Given the description of an element on the screen output the (x, y) to click on. 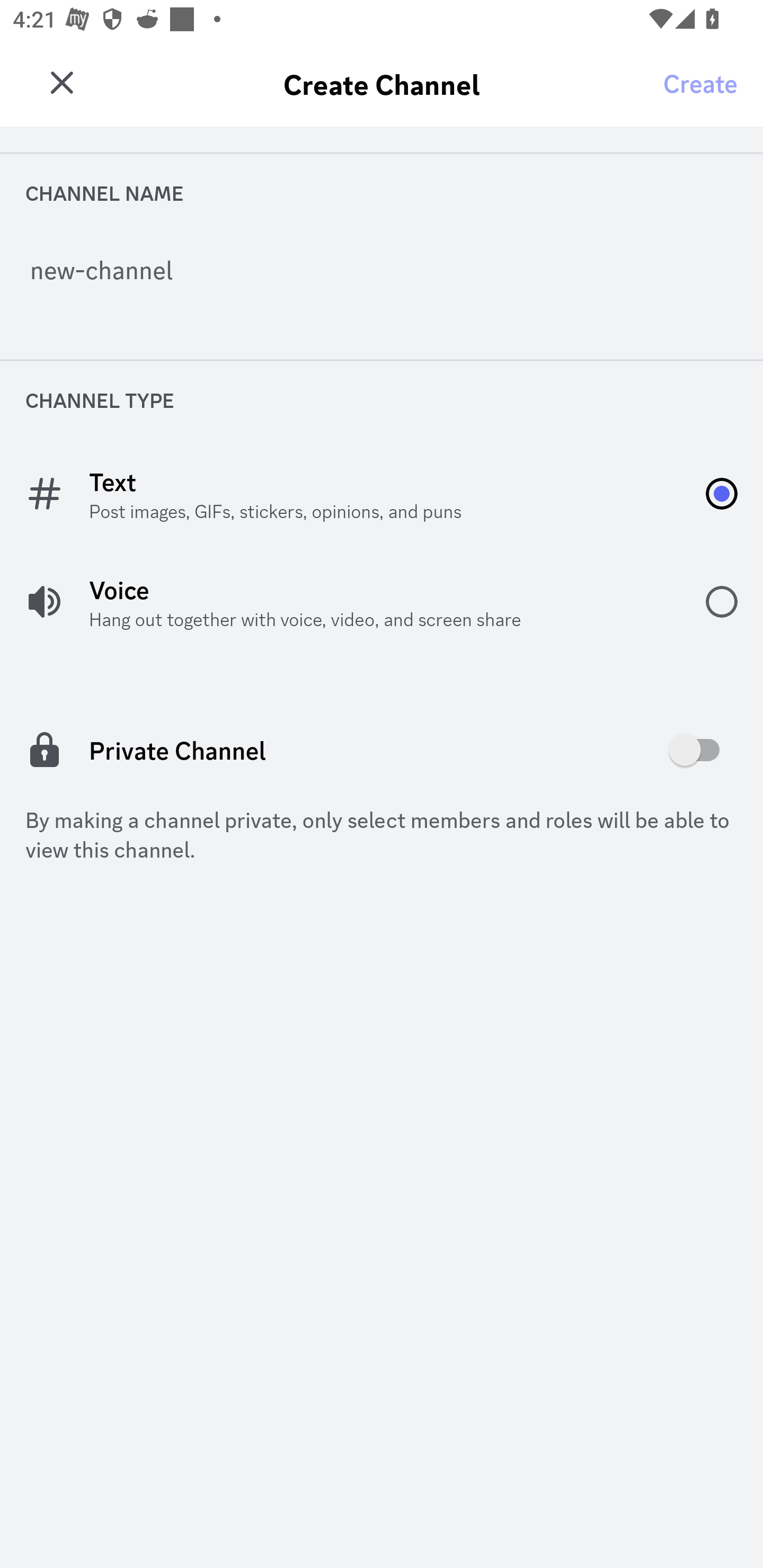
  Friends F (66, 75)
Friends (server) Friends (server) Friends Friends (412, 83)
Create (700, 82)
new-channel Channel Name (381, 274)
off Private Channel Private Channel (381, 749)
